Given the description of an element on the screen output the (x, y) to click on. 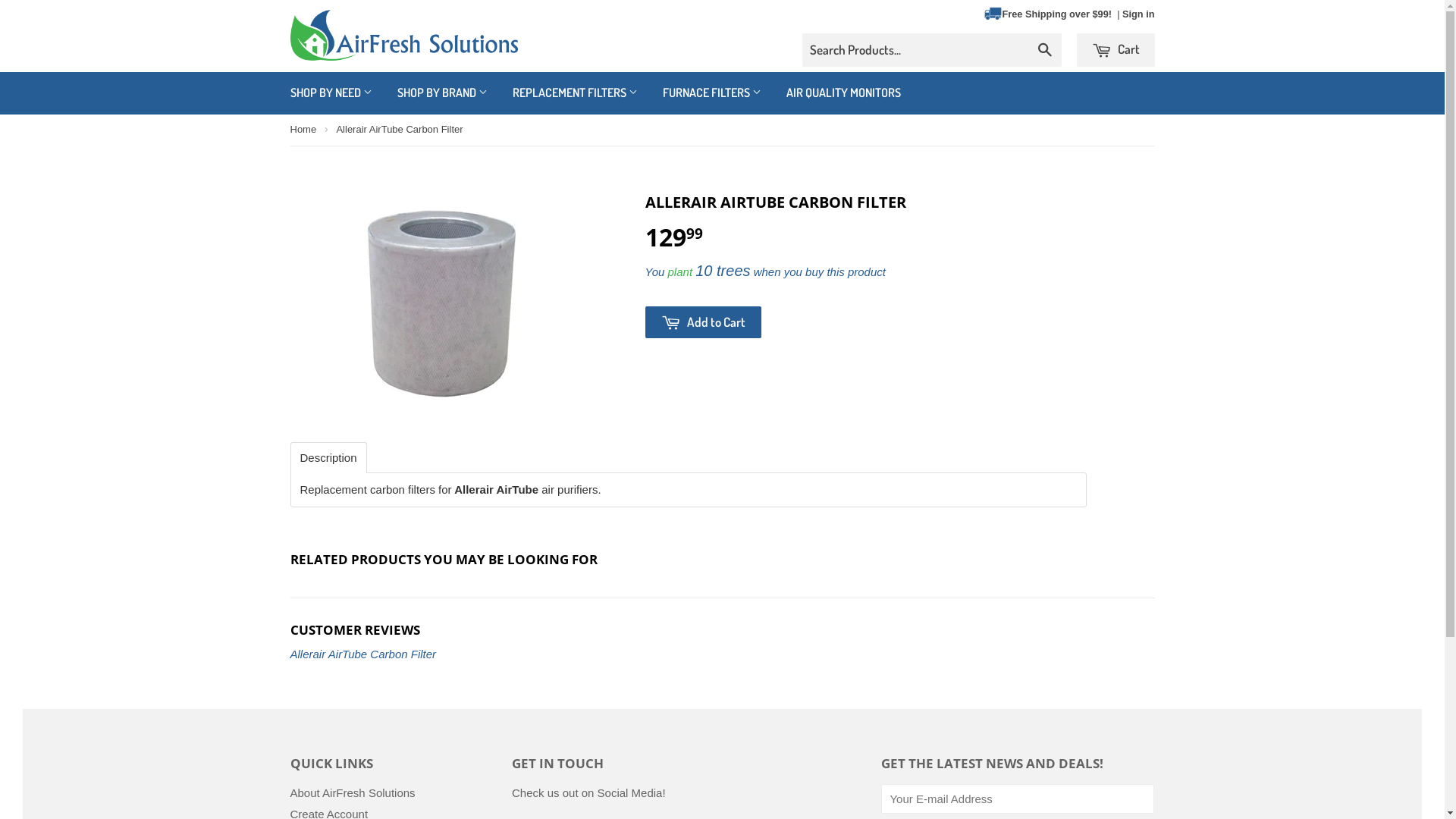
REPLACEMENT FILTERS Element type: text (574, 93)
CUSTOMER REVIEWS
Allerair AirTube Carbon Filter Element type: text (721, 642)
You plant 10 trees when you buy this product Element type: text (764, 271)
FURNACE FILTERS Element type: text (710, 93)
Add to Cart Element type: text (702, 322)
Cart Element type: text (1115, 49)
SHOP BY BRAND Element type: text (441, 93)
Home Element type: text (302, 130)
About AirFresh Solutions Element type: text (351, 792)
Description Element type: text (328, 457)
AIR QUALITY MONITORS Element type: text (843, 93)
Search Element type: text (1044, 50)
SHOP BY NEED Element type: text (331, 93)
Sign in Element type: text (1138, 13)
